Given the description of an element on the screen output the (x, y) to click on. 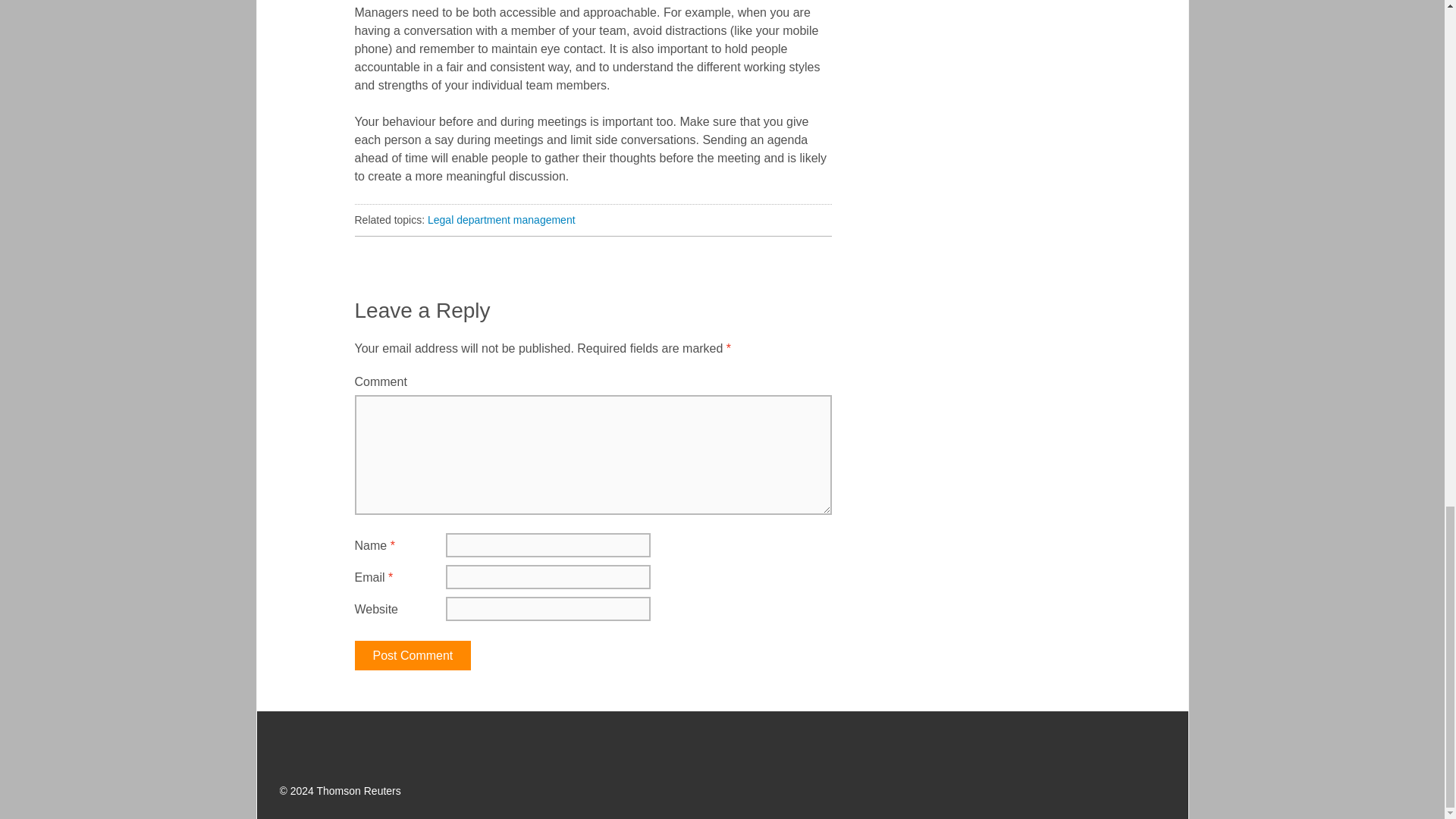
Post Comment (413, 655)
Thomson Reuters (357, 744)
Post Comment (413, 655)
Legal department management (501, 219)
